Given the description of an element on the screen output the (x, y) to click on. 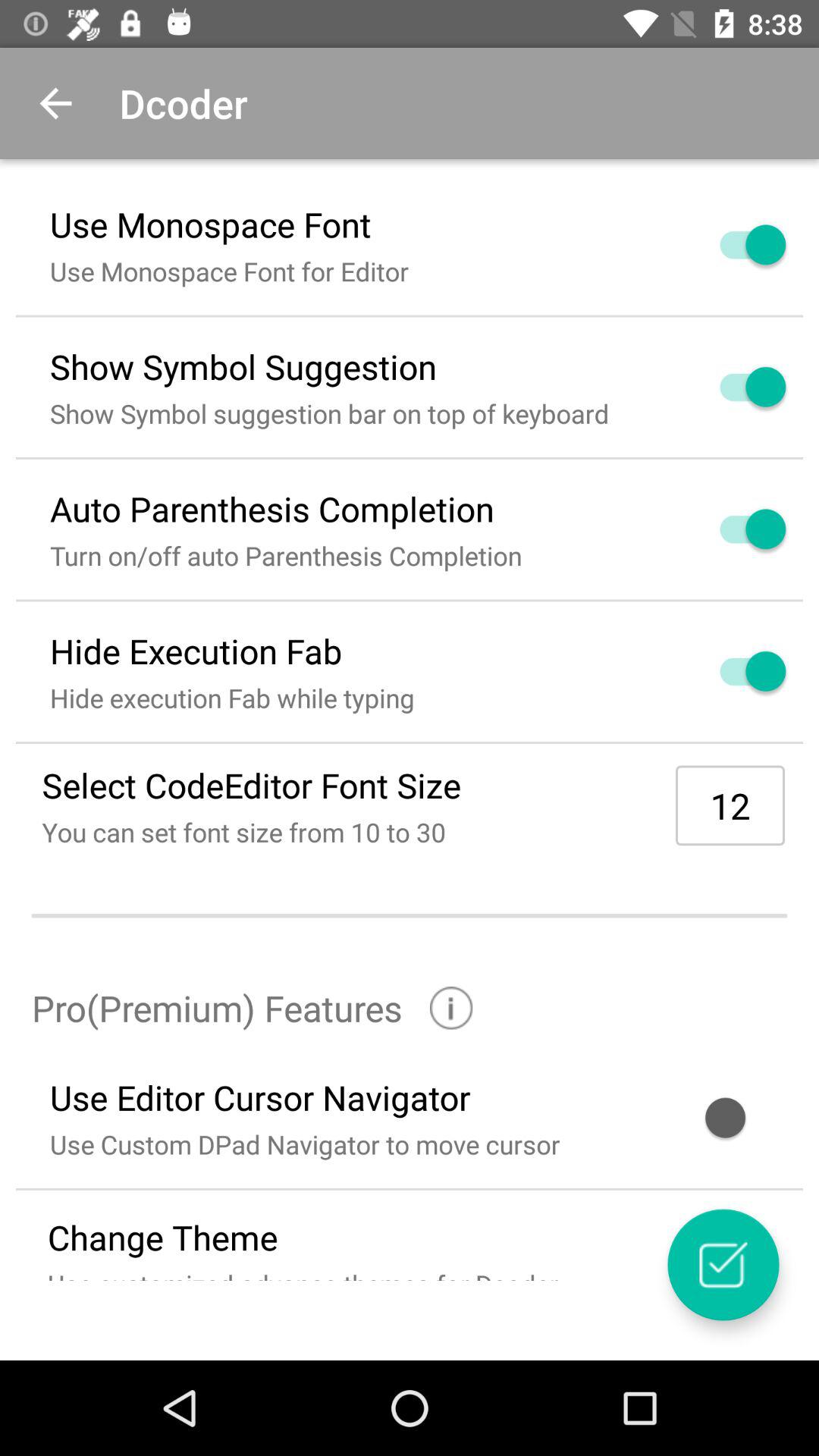
save settings (723, 1264)
